Given the description of an element on the screen output the (x, y) to click on. 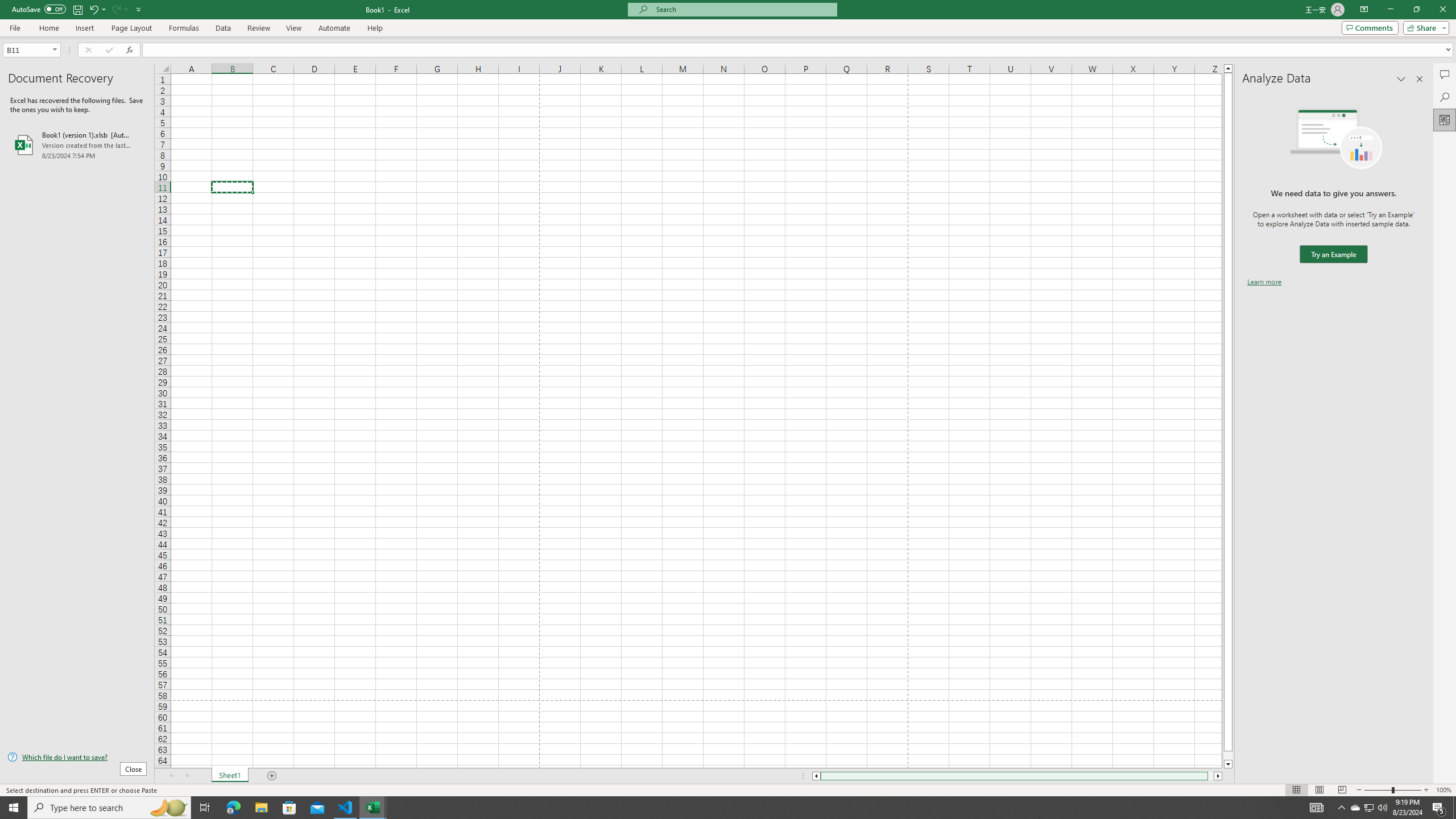
Formula Bar (799, 49)
